Given the description of an element on the screen output the (x, y) to click on. 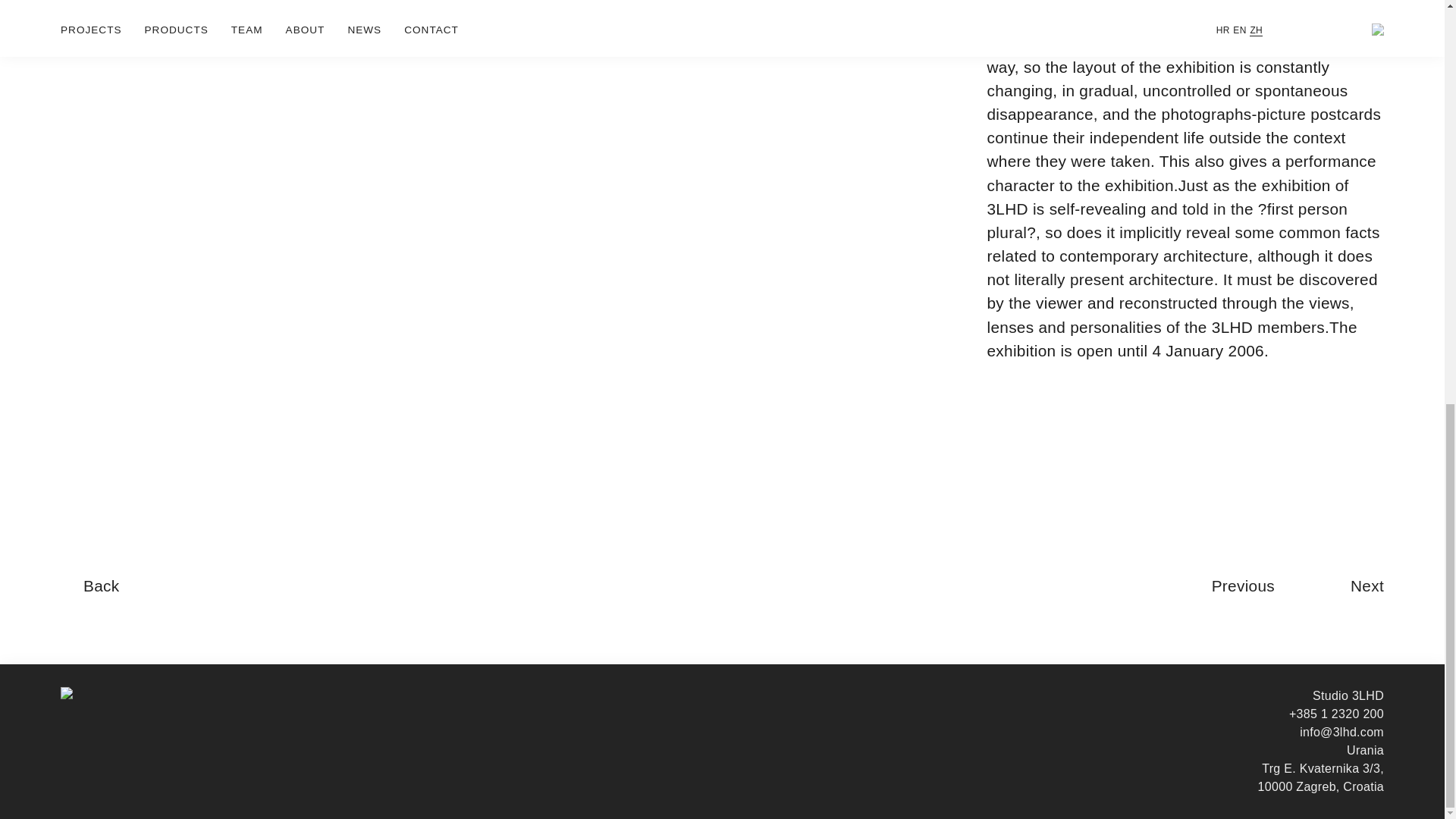
Back (100, 586)
Next (1367, 586)
Previous (1243, 586)
